Given the description of an element on the screen output the (x, y) to click on. 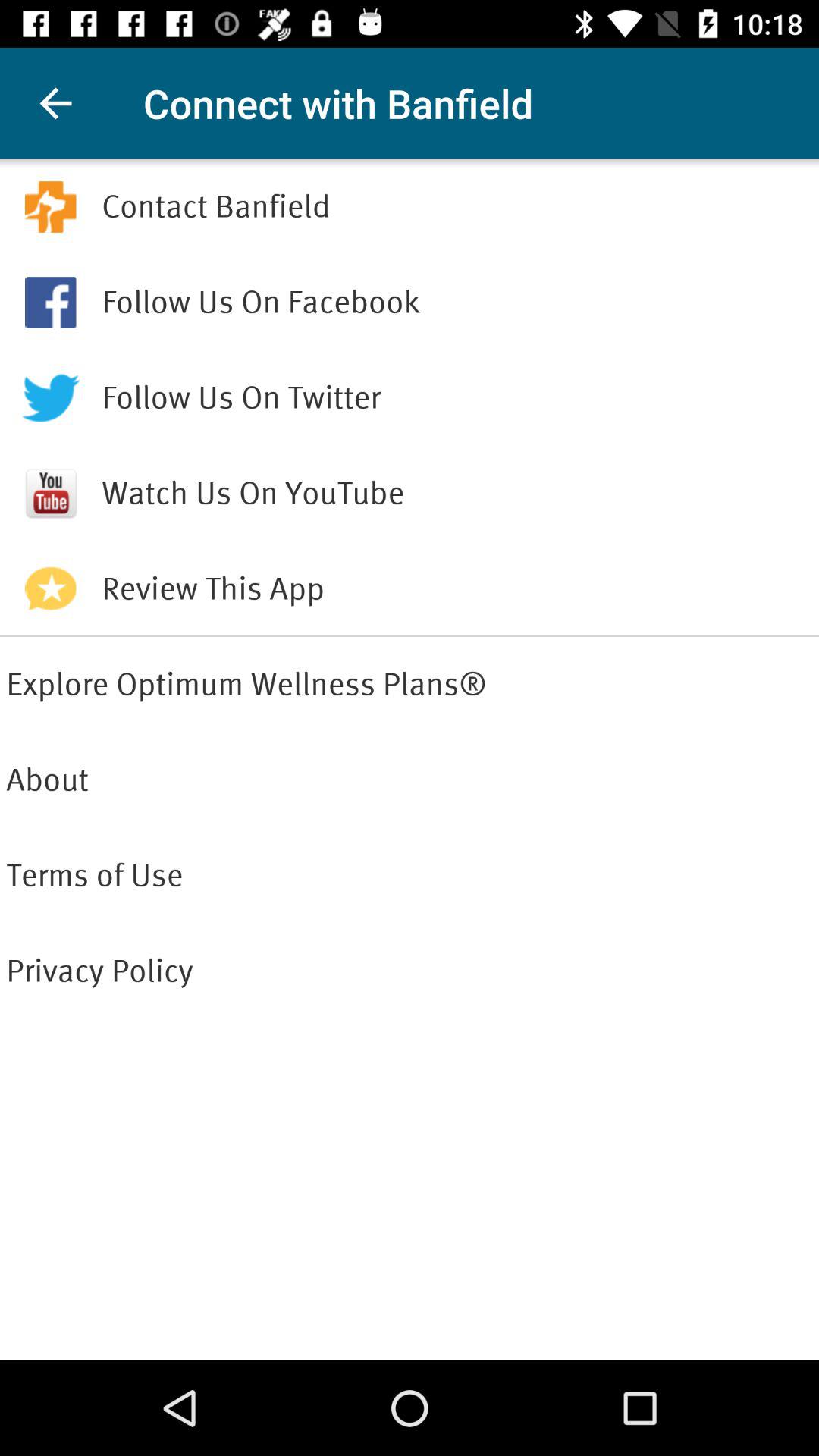
turn on contact banfield icon (457, 206)
